Given the description of an element on the screen output the (x, y) to click on. 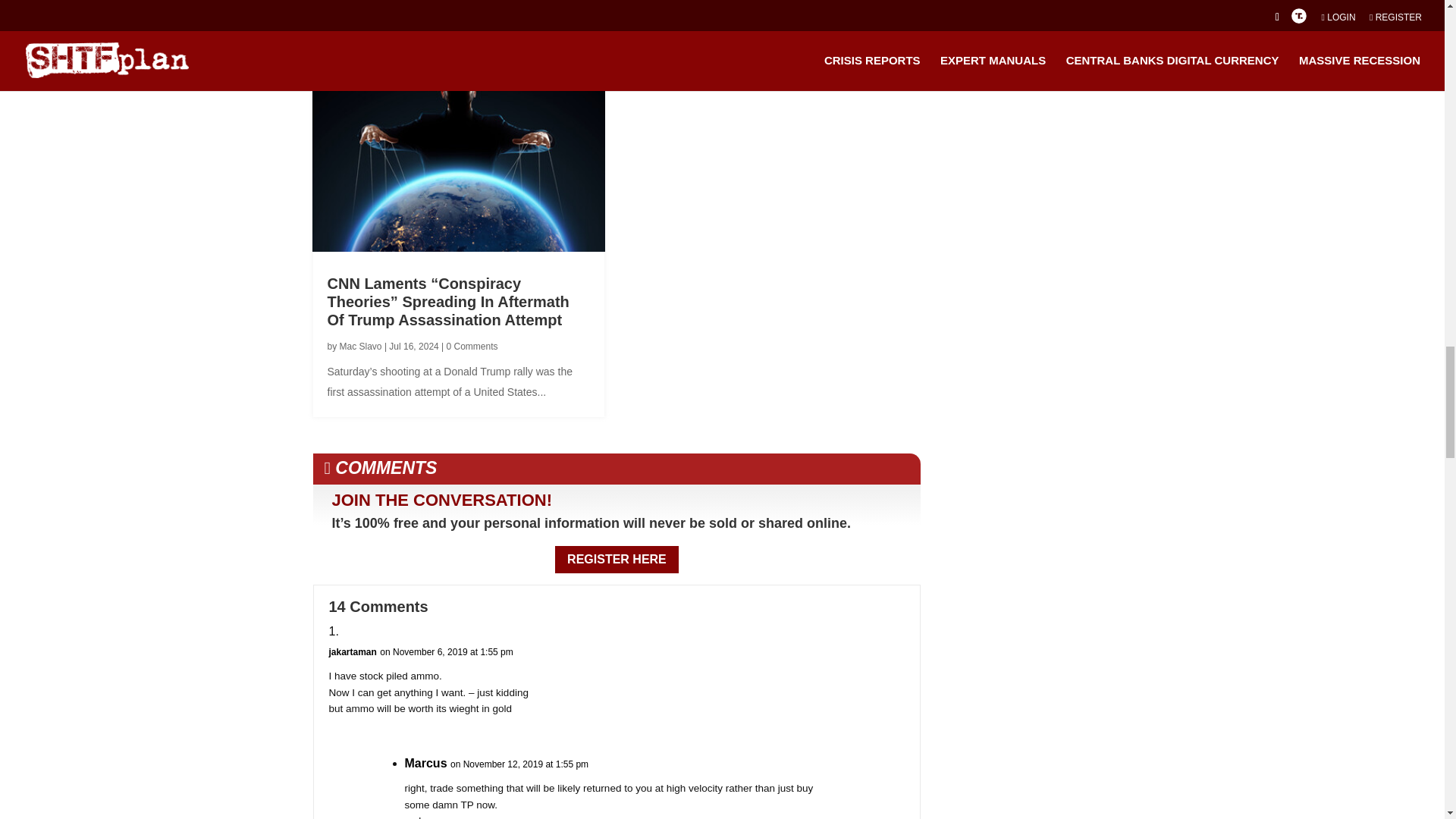
Posts by Mac Slavo (360, 346)
